Given the description of an element on the screen output the (x, y) to click on. 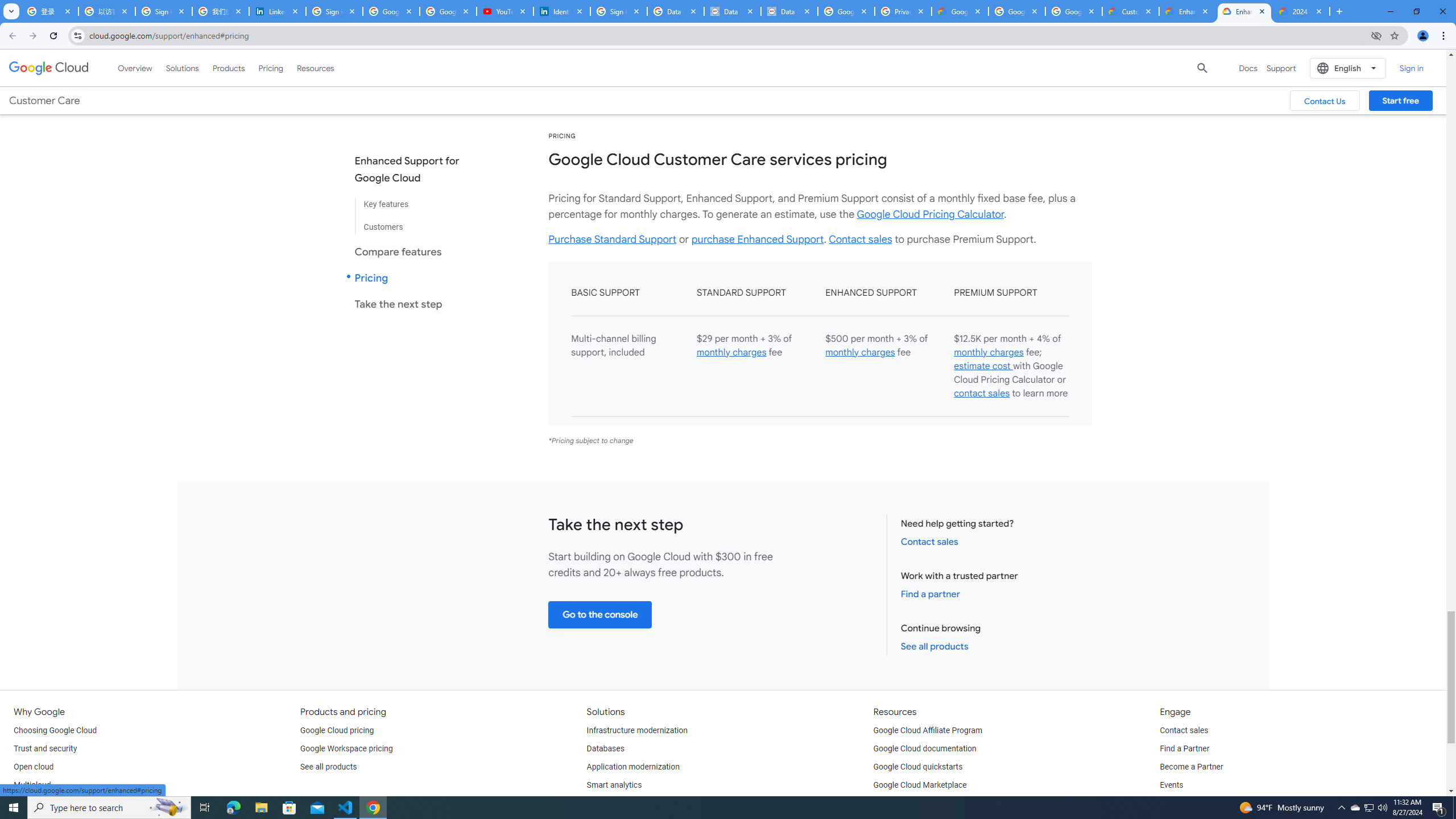
Google Cloud Pricing Calculator (930, 213)
Google Workspace pricing (346, 748)
Find a partner (929, 594)
LinkedIn Privacy Policy (277, 11)
Pricing (270, 67)
Purchase Standard Support (612, 238)
Artificial Intelligence (622, 802)
Docs (1248, 67)
Support (1280, 67)
Become a Partner (1190, 766)
monthly charges (988, 352)
